Given the description of an element on the screen output the (x, y) to click on. 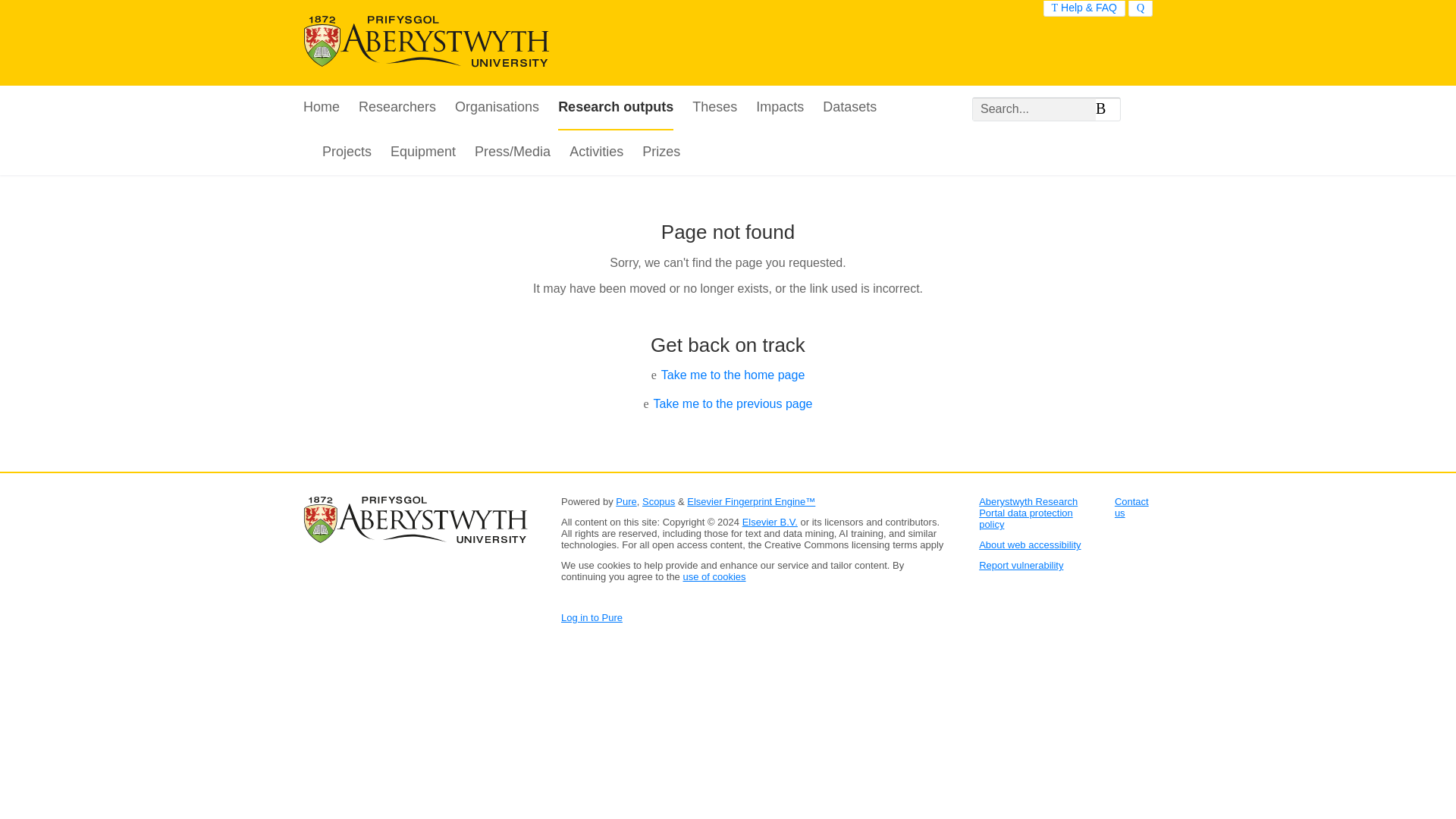
use of cookies (713, 576)
Report vulnerability (1020, 564)
Datasets (849, 107)
Take me to the home page (733, 374)
Theses (714, 107)
Aberystwyth Research Portal data protection policy (1027, 512)
Researchers (396, 107)
Prizes (660, 152)
Take me to the previous page (732, 403)
Scopus (658, 501)
Pure (625, 501)
Contact us (1131, 507)
Organisations (496, 107)
About web accessibility (1029, 544)
